Given the description of an element on the screen output the (x, y) to click on. 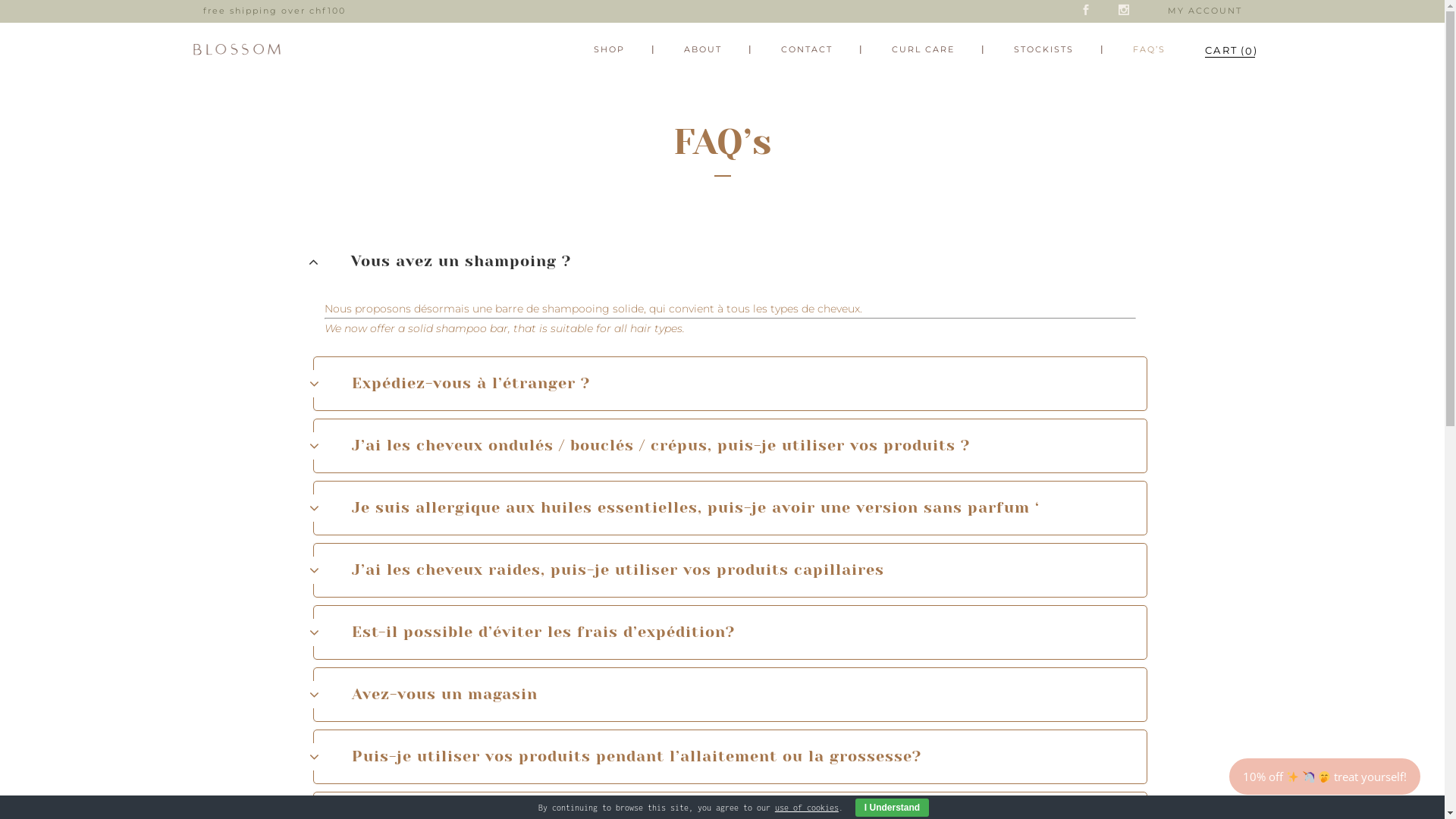
Vous avez un shampoing ? Element type: text (729, 261)
0 Element type: text (1220, 49)
use of cookies Element type: text (806, 807)
I Understand Element type: text (891, 807)
ABOUT Element type: text (701, 48)
MY ACCOUNT Element type: text (1204, 10)
STOCKISTS Element type: text (1043, 48)
Avez-vous un magasin Element type: text (729, 694)
10% off treat yourself! Element type: text (1324, 776)
CONTACT Element type: text (805, 48)
CURL CARE Element type: text (922, 48)
SHOP Element type: text (609, 48)
